Given the description of an element on the screen output the (x, y) to click on. 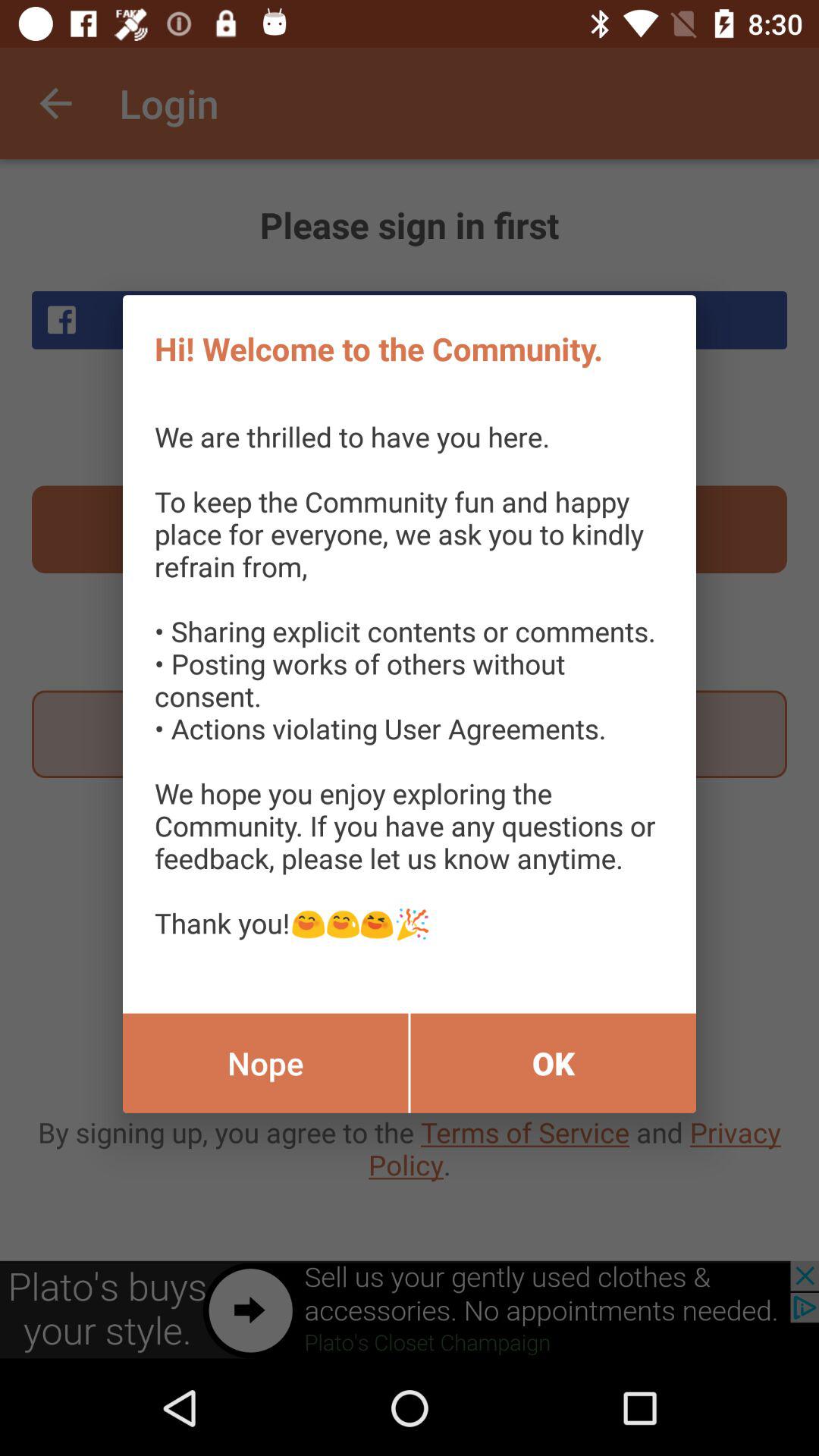
launch the icon at the bottom right corner (553, 1063)
